Given the description of an element on the screen output the (x, y) to click on. 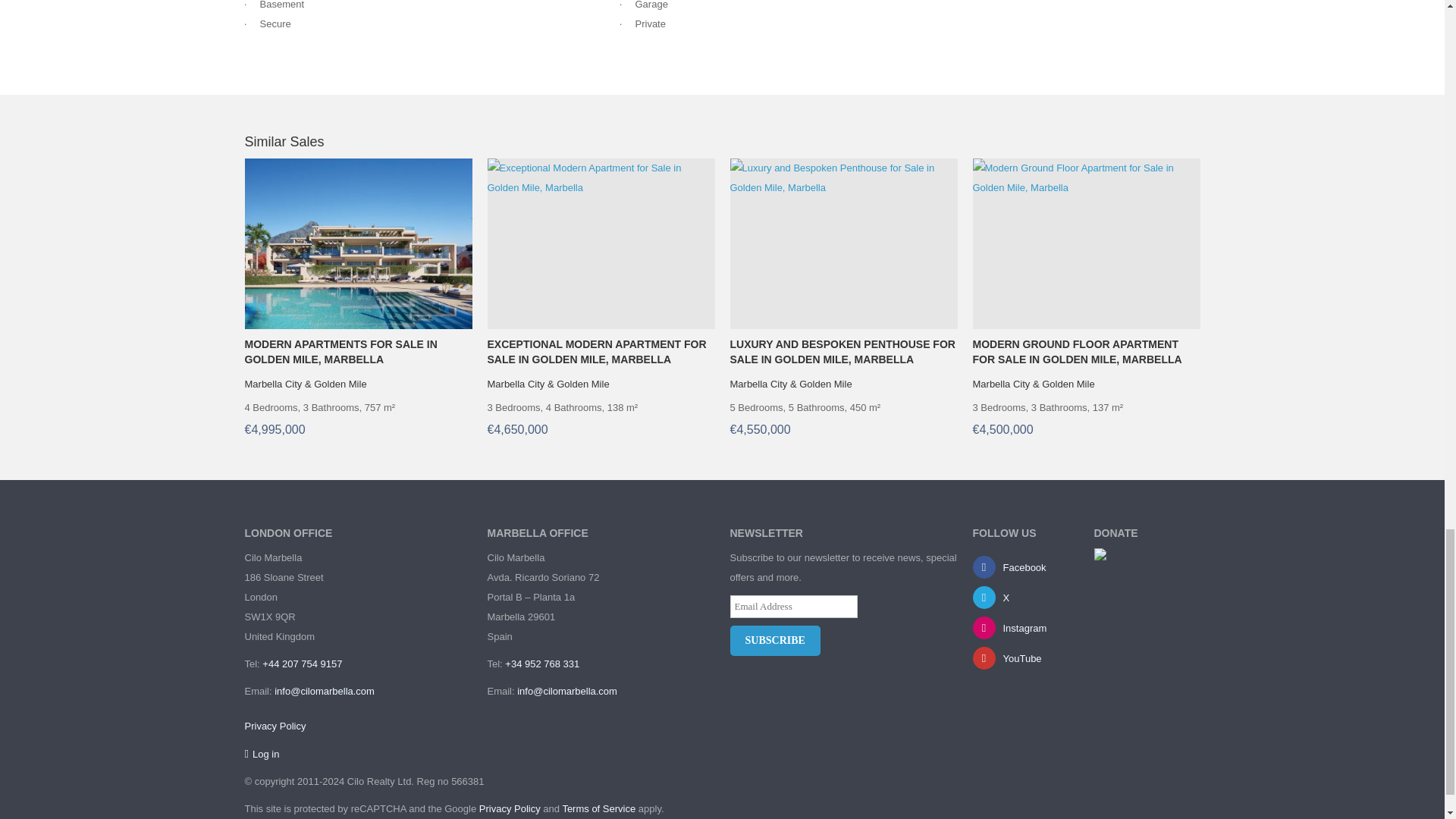
MODERN APARTMENTS FOR SALE IN GOLDEN MILE, MARBELLA (357, 351)
